Given the description of an element on the screen output the (x, y) to click on. 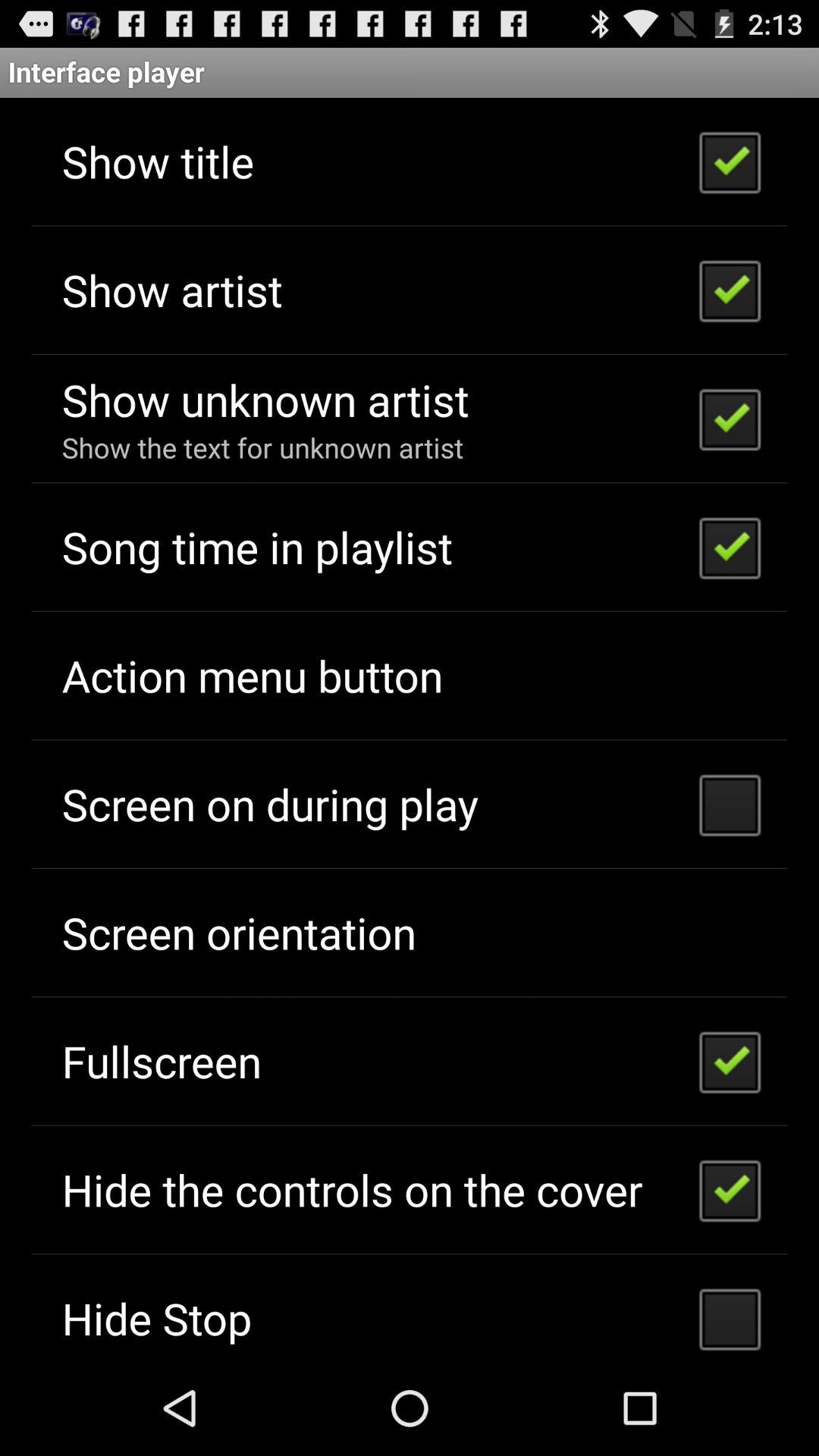
flip to the hide stop item (156, 1317)
